Given the description of an element on the screen output the (x, y) to click on. 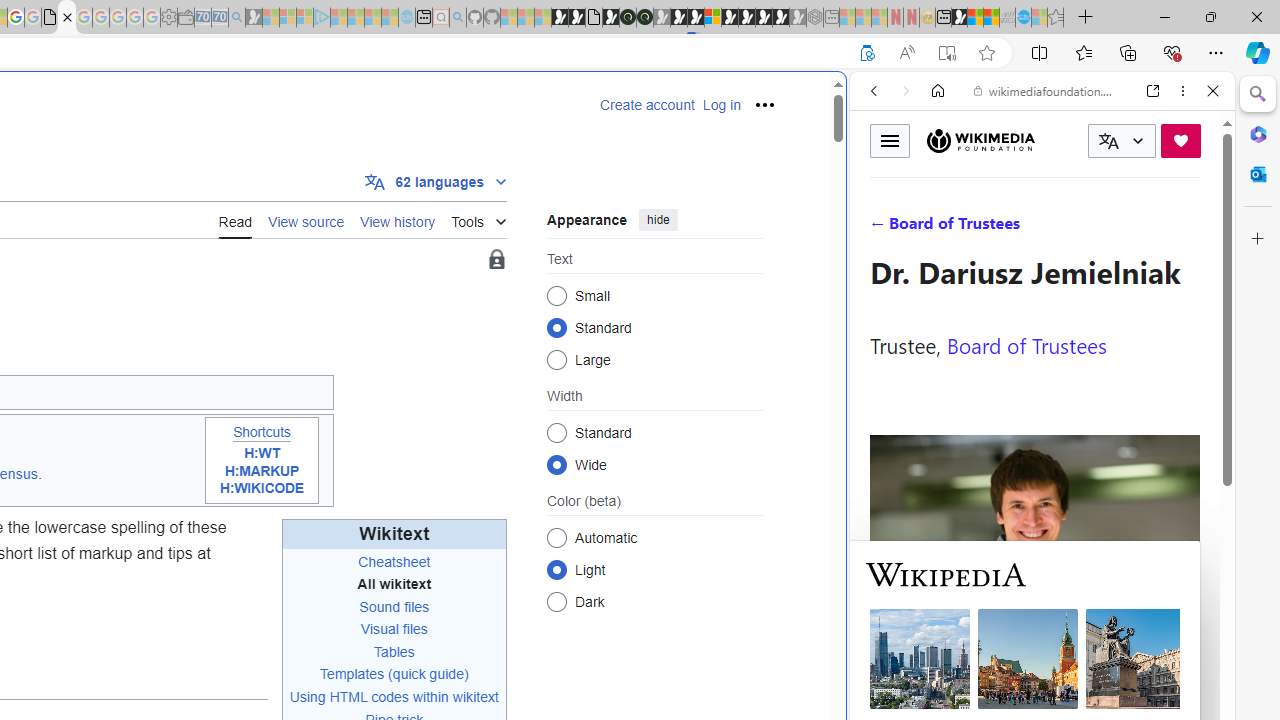
(quick guide) (427, 674)
Light (556, 569)
Using HTML codes within wikitext (394, 696)
Wiktionary (1034, 669)
Create account (647, 105)
